Given the description of an element on the screen output the (x, y) to click on. 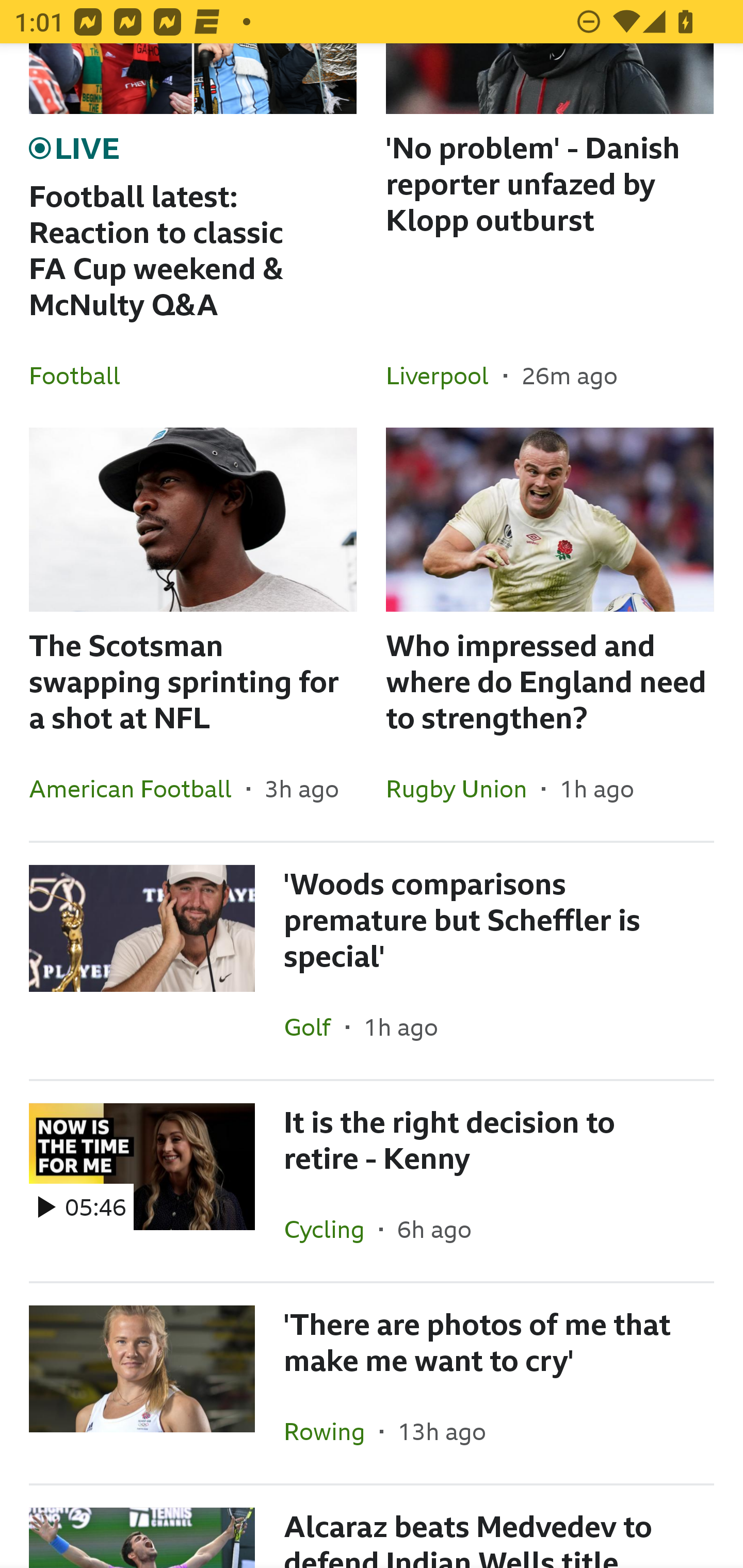
Football In the section Football (81, 375)
Liverpool In the section Liverpool (444, 375)
American Football In the section American Football (137, 788)
Rugby Union In the section Rugby Union (463, 788)
Golf In the section Golf (314, 1026)
Cycling In the section Cycling (330, 1229)
Rowing In the section Rowing (331, 1431)
